Given the description of an element on the screen output the (x, y) to click on. 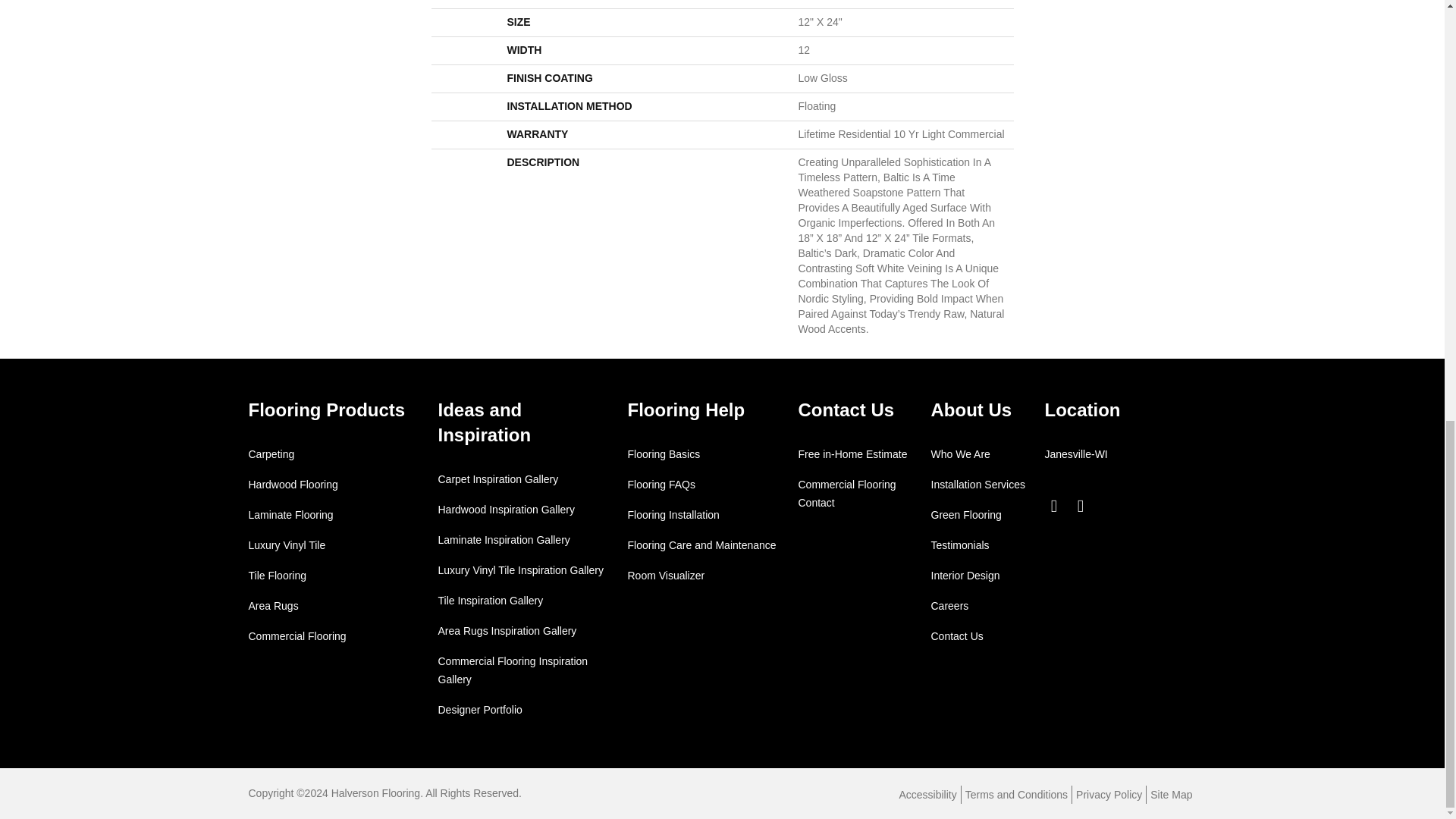
Flooring Help (686, 409)
Contact Us (845, 409)
Flooring Products (327, 409)
Ideas and Inspiration (484, 422)
About Us (971, 409)
Location (1083, 409)
